Given the description of an element on the screen output the (x, y) to click on. 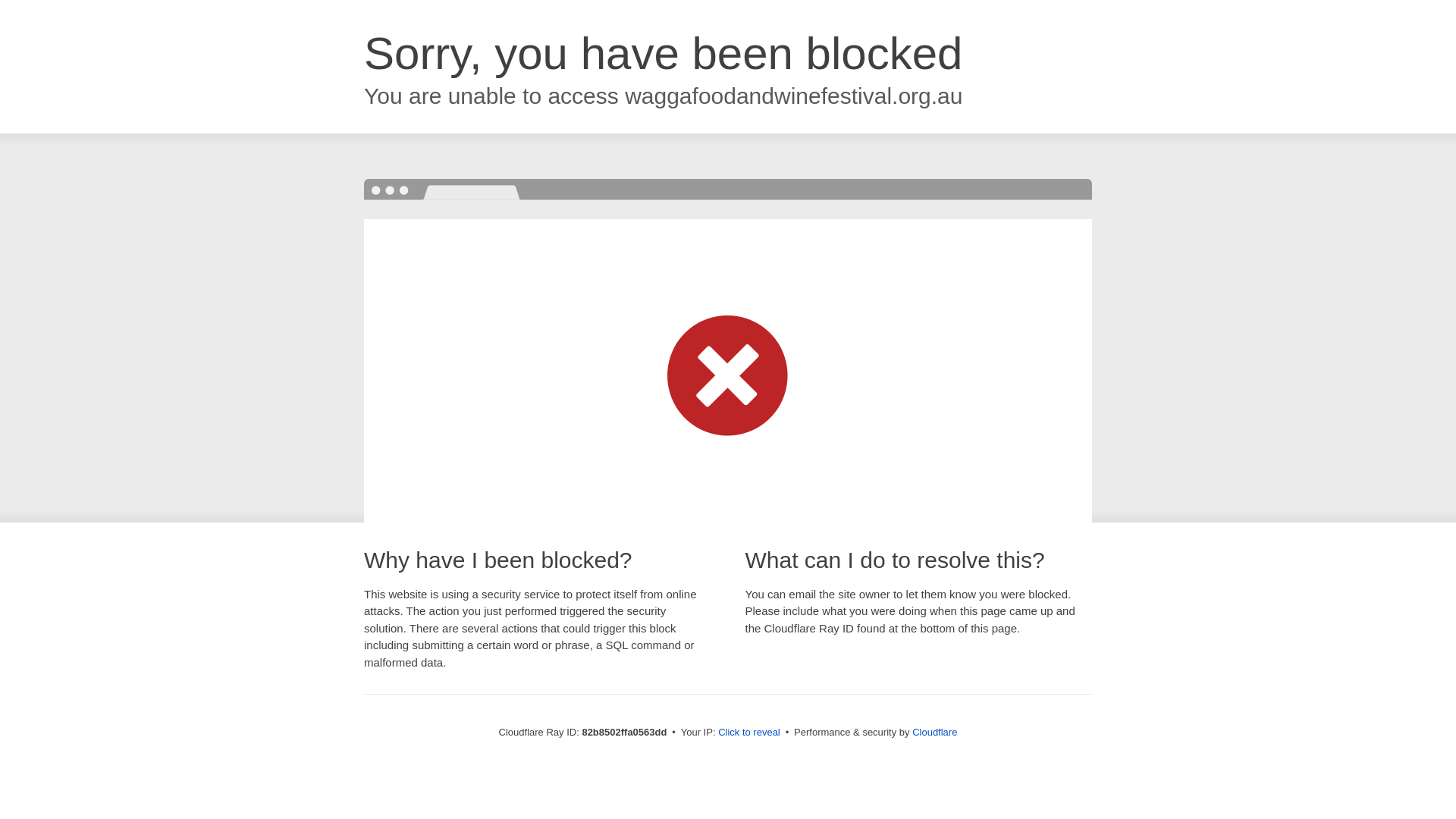
Cloudflare Element type: text (934, 731)
Click to reveal Element type: text (749, 732)
